Given the description of an element on the screen output the (x, y) to click on. 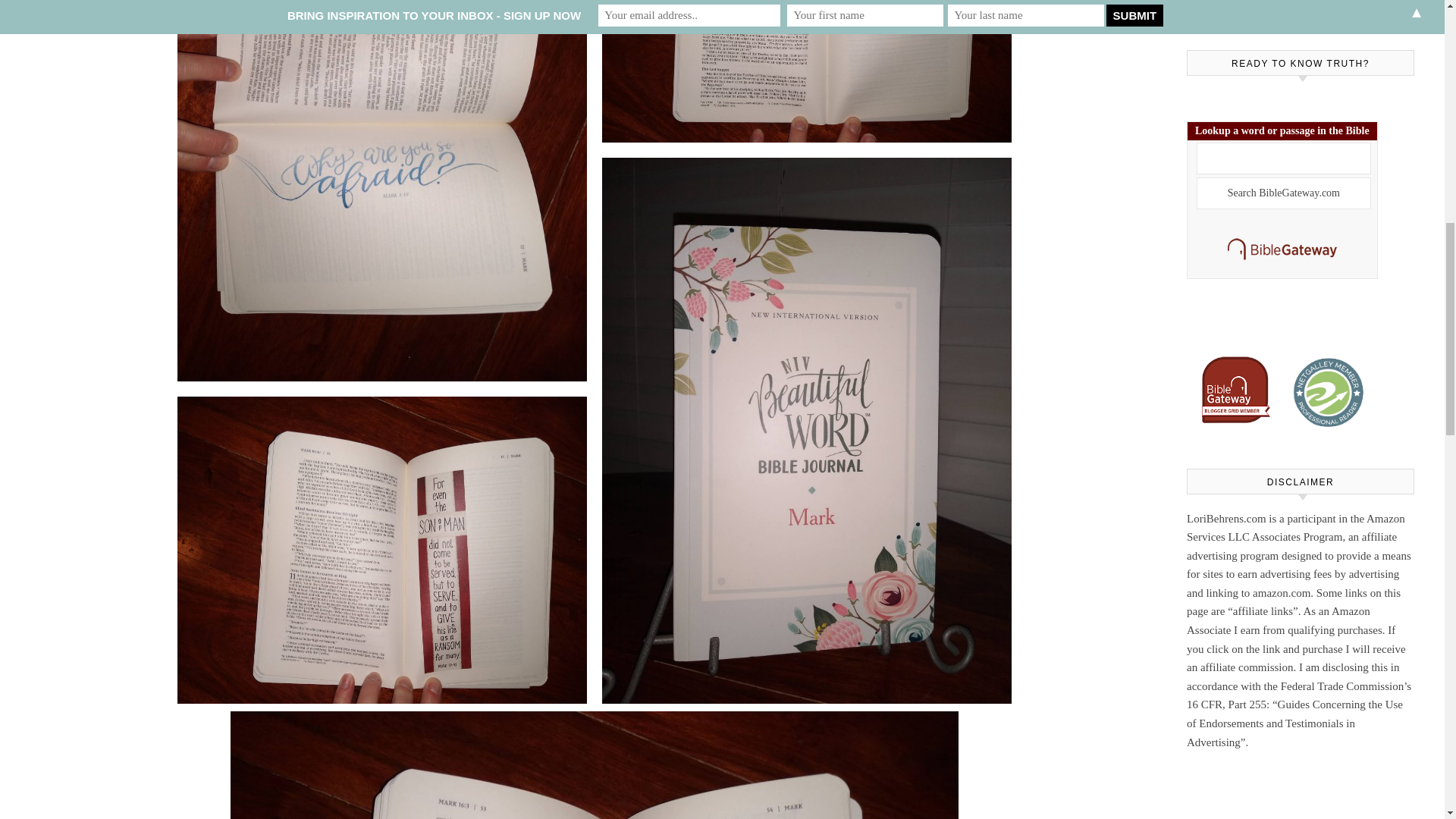
Search BibleGateway.com (1283, 193)
Search BibleGateway.com (1283, 193)
The Bible in multiple languages, versions, and formats (1282, 259)
